Given the description of an element on the screen output the (x, y) to click on. 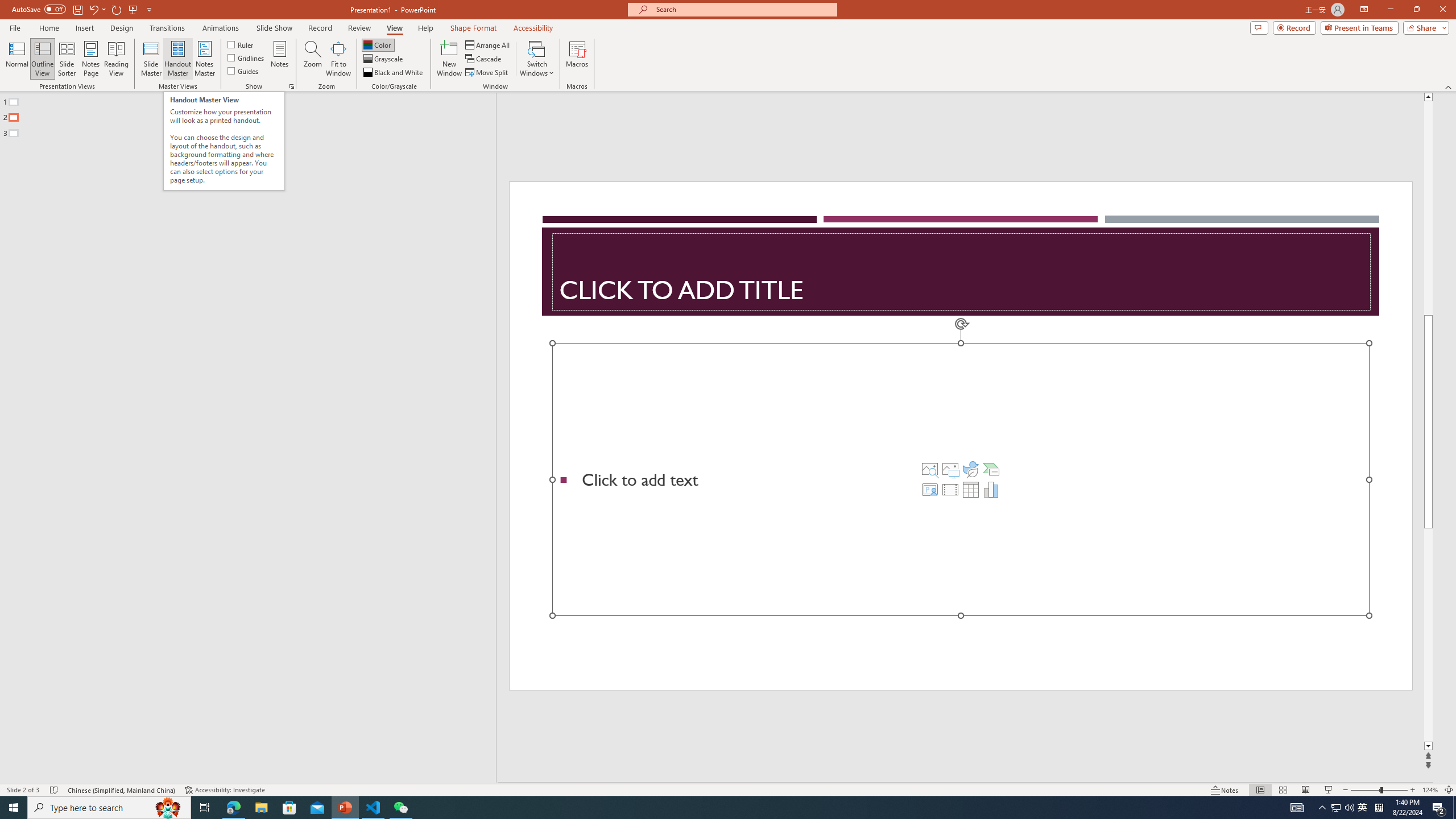
Outline View (42, 58)
Cascade (484, 58)
